Given the description of an element on the screen output the (x, y) to click on. 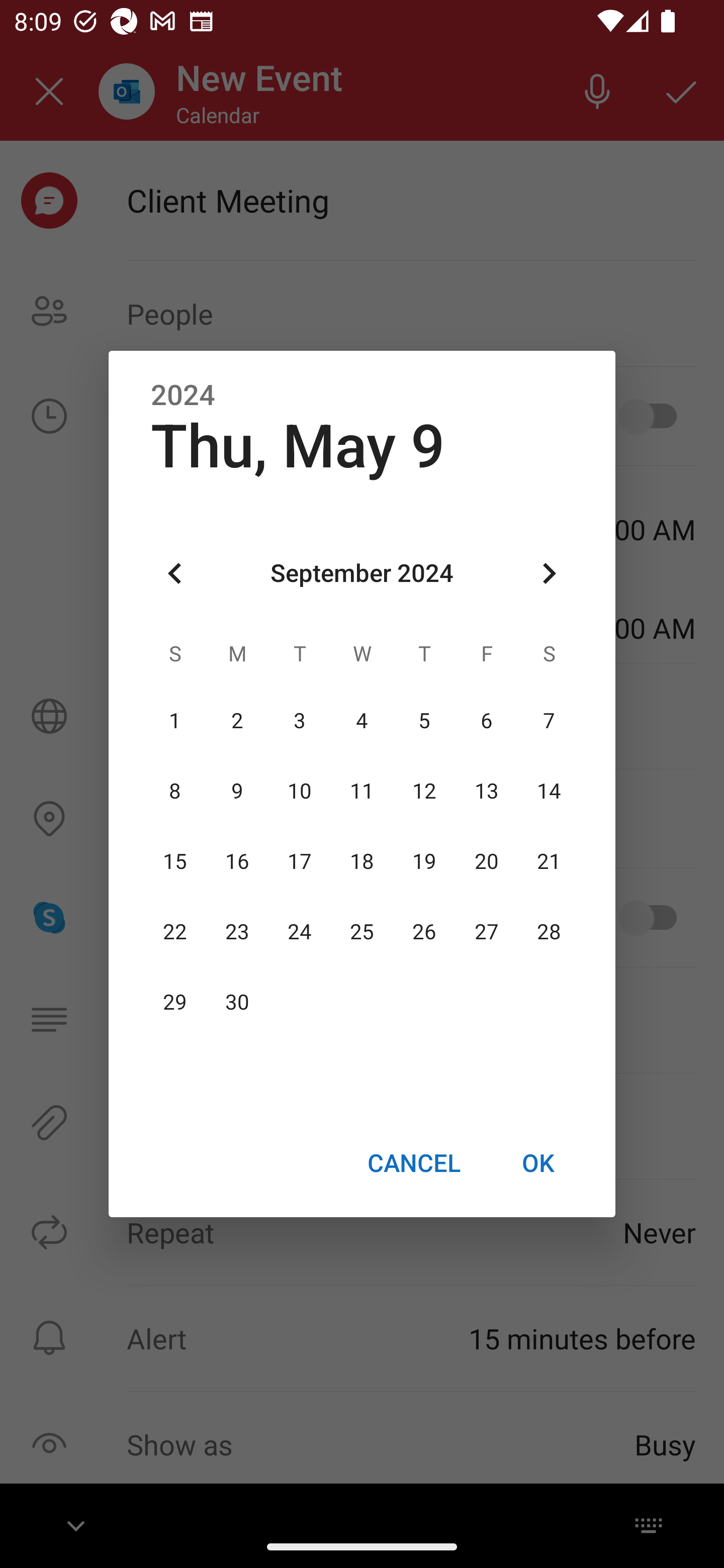
2024 (182, 395)
Thu, May 9 (297, 446)
Previous month (174, 573)
Next month (548, 573)
1 01 September 2024 (175, 720)
2 02 September 2024 (237, 720)
3 03 September 2024 (299, 720)
4 04 September 2024 (361, 720)
5 05 September 2024 (424, 720)
6 06 September 2024 (486, 720)
7 07 September 2024 (548, 720)
8 08 September 2024 (175, 790)
9 09 September 2024 (237, 790)
10 10 September 2024 (299, 790)
11 11 September 2024 (361, 790)
12 12 September 2024 (424, 790)
13 13 September 2024 (486, 790)
14 14 September 2024 (548, 790)
15 15 September 2024 (175, 861)
16 16 September 2024 (237, 861)
17 17 September 2024 (299, 861)
18 18 September 2024 (361, 861)
19 19 September 2024 (424, 861)
20 20 September 2024 (486, 861)
21 21 September 2024 (548, 861)
22 22 September 2024 (175, 931)
23 23 September 2024 (237, 931)
24 24 September 2024 (299, 931)
25 25 September 2024 (361, 931)
26 26 September 2024 (424, 931)
27 27 September 2024 (486, 931)
28 28 September 2024 (548, 931)
29 29 September 2024 (175, 1002)
30 30 September 2024 (237, 1002)
CANCEL (413, 1162)
OK (537, 1162)
